Given the description of an element on the screen output the (x, y) to click on. 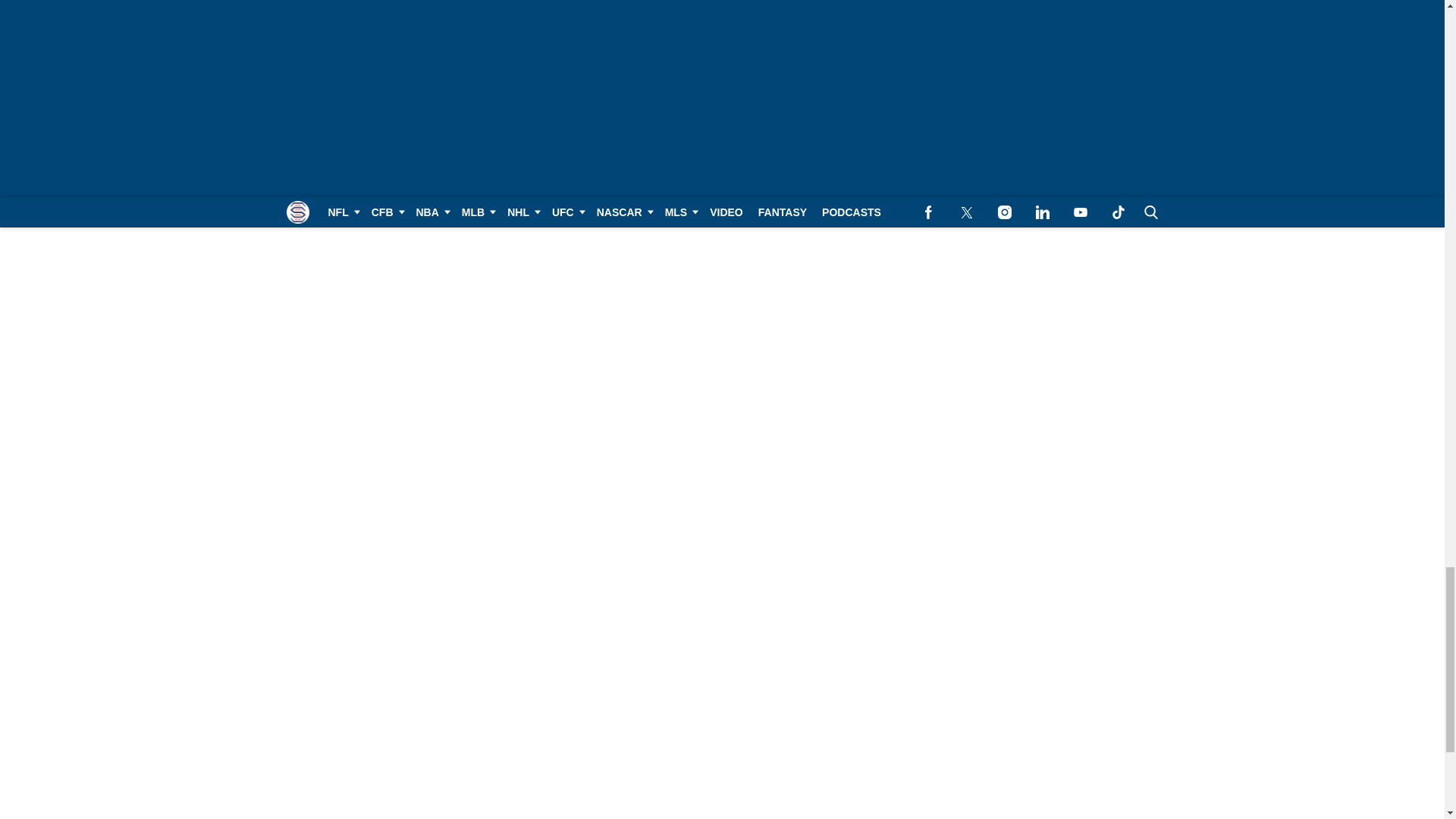
Subscribe to our YouTube channel (765, 4)
Follow us on Twitter (678, 4)
Follow us on Instagram (707, 4)
Connect with us on TikTok (794, 4)
Connect with us on LinkedIn (736, 4)
Follow us on Facebook (650, 4)
